Given the description of an element on the screen output the (x, y) to click on. 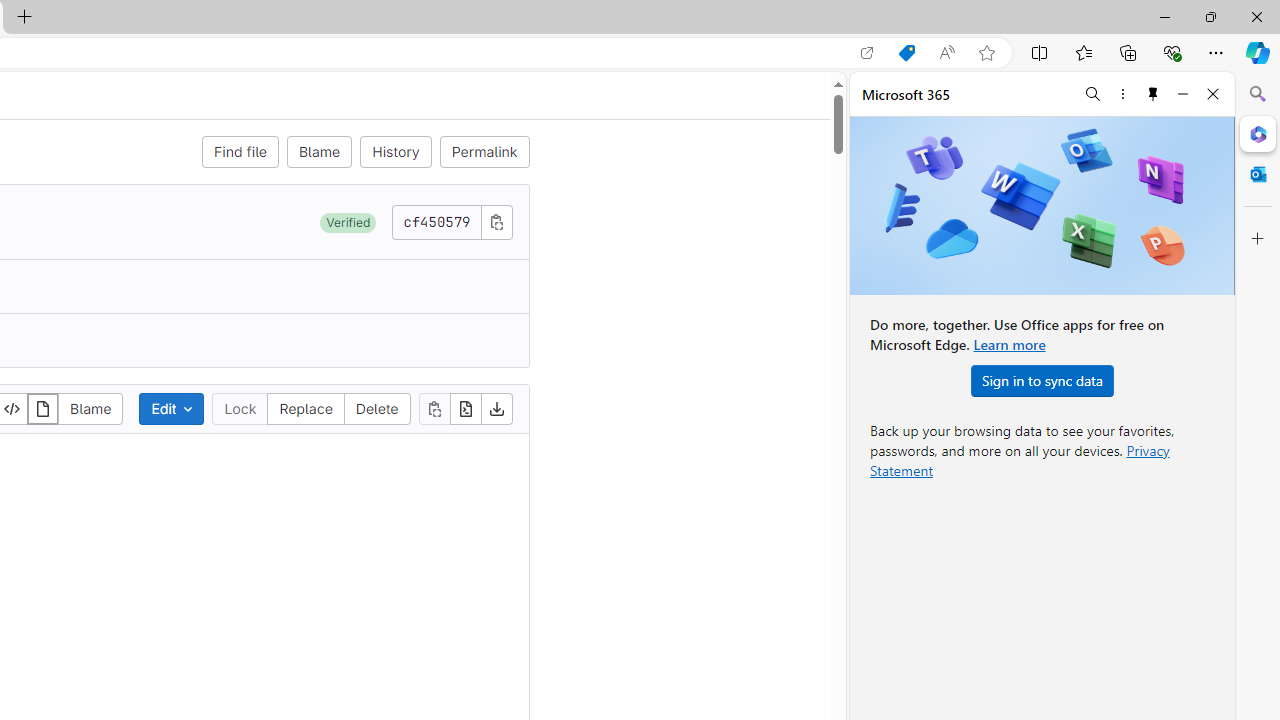
Close Outlook pane (1258, 174)
Download (496, 408)
Unpin side pane (1153, 93)
Open in app (867, 53)
Display rendered file (43, 408)
Shopping in Microsoft Edge (906, 53)
Copy file contents (434, 408)
Permalink (484, 151)
More options (1122, 93)
Find file (240, 151)
